Given the description of an element on the screen output the (x, y) to click on. 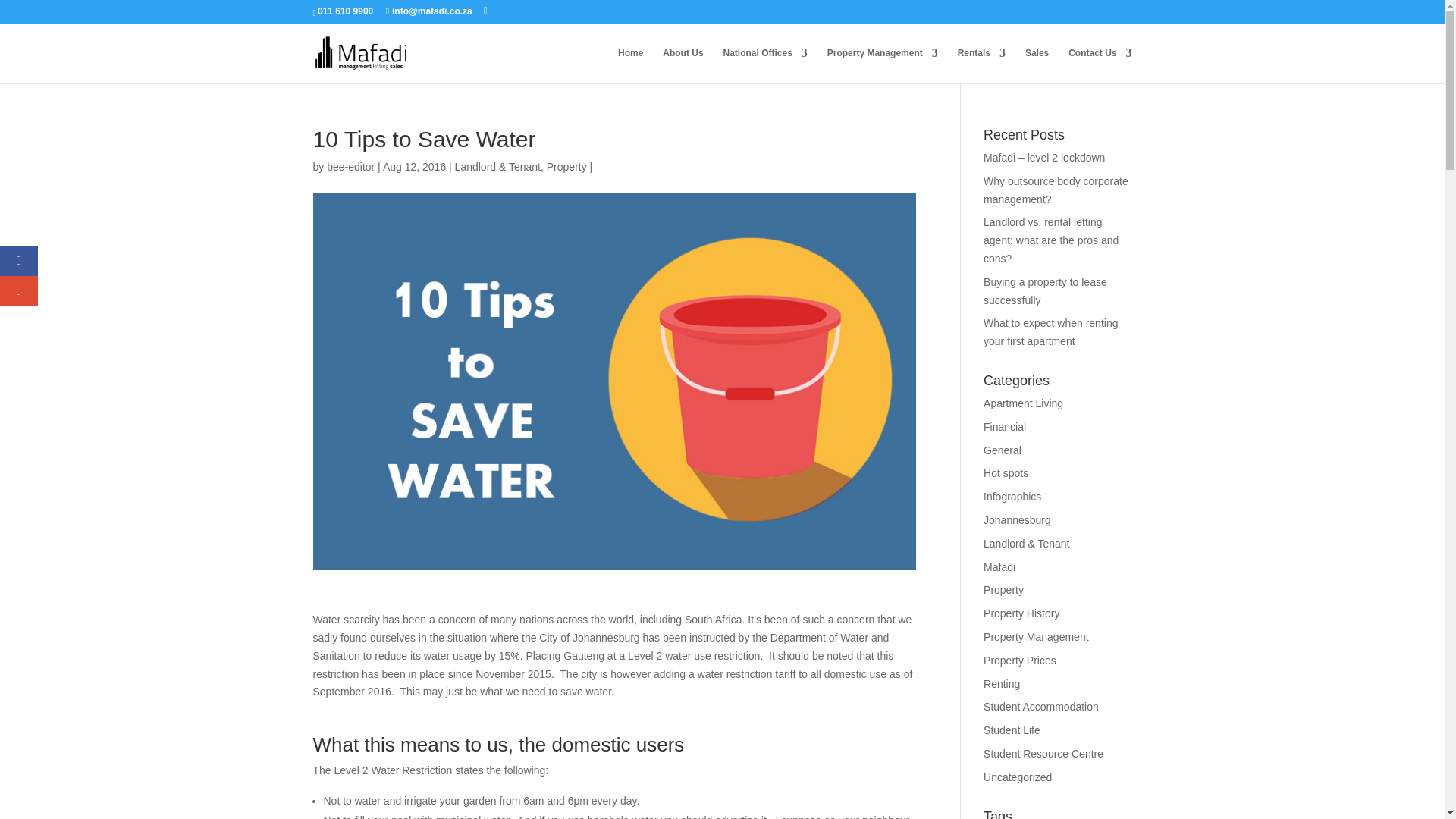
National Offices (764, 65)
Rentals (982, 65)
Contact Us (1099, 65)
About Us (682, 65)
bee-editor (350, 166)
Property (566, 166)
Posts by bee-editor (350, 166)
Property Management (882, 65)
